Given the description of an element on the screen output the (x, y) to click on. 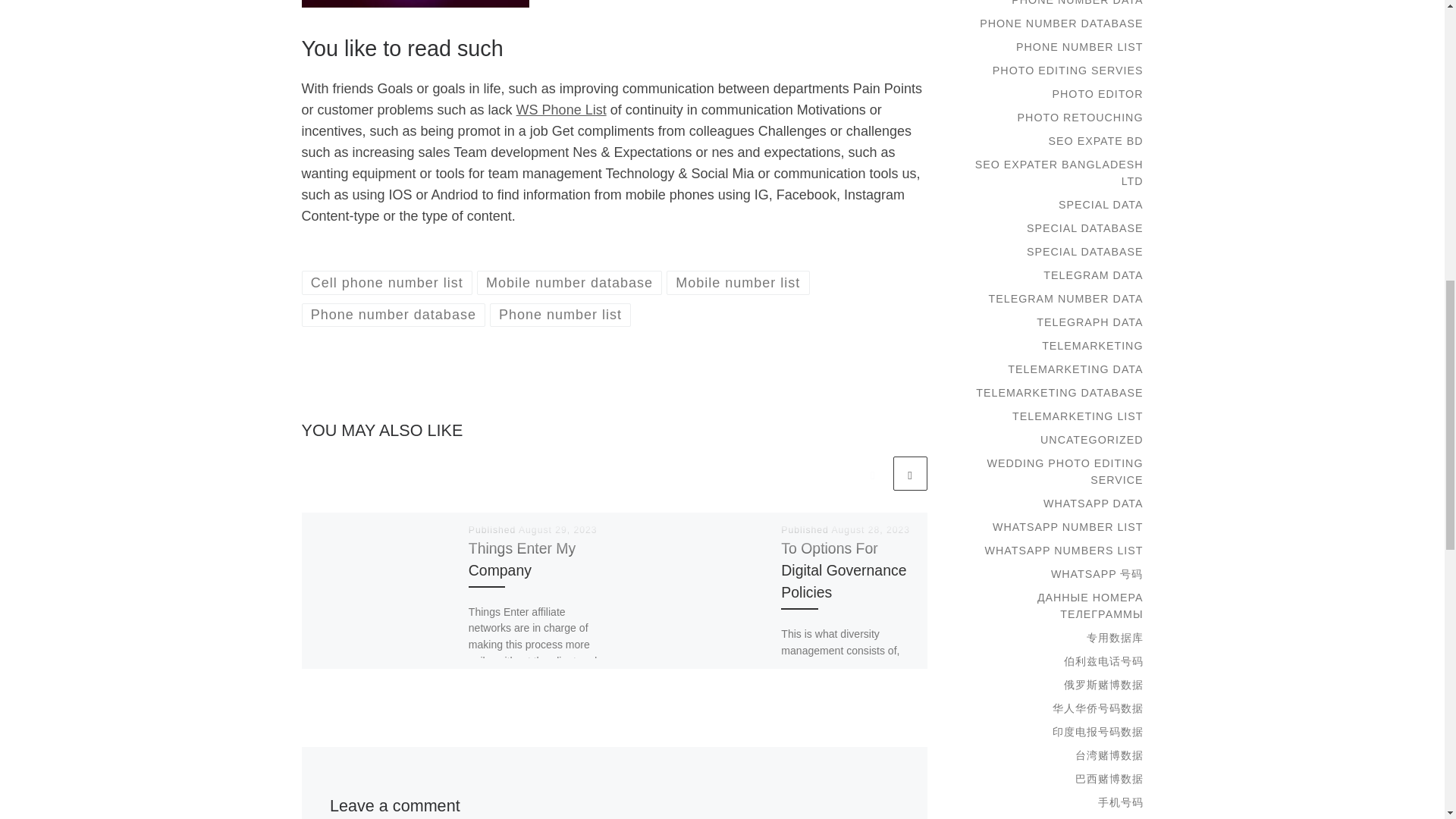
Mobile number list (737, 282)
View all posts in Phone number database (393, 314)
August 29, 2023 (557, 529)
WS Phone List (561, 109)
Mobile number database (569, 282)
Previous related articles (872, 473)
To Options For Digital Governance Policies (842, 569)
View all posts in Mobile number database (569, 282)
View all posts in Phone number list (560, 314)
View all posts in Cell phone number list (387, 282)
Phone number database (393, 314)
Next related articles (910, 473)
August 28, 2023 (870, 529)
Phone number list (560, 314)
